Given the description of an element on the screen output the (x, y) to click on. 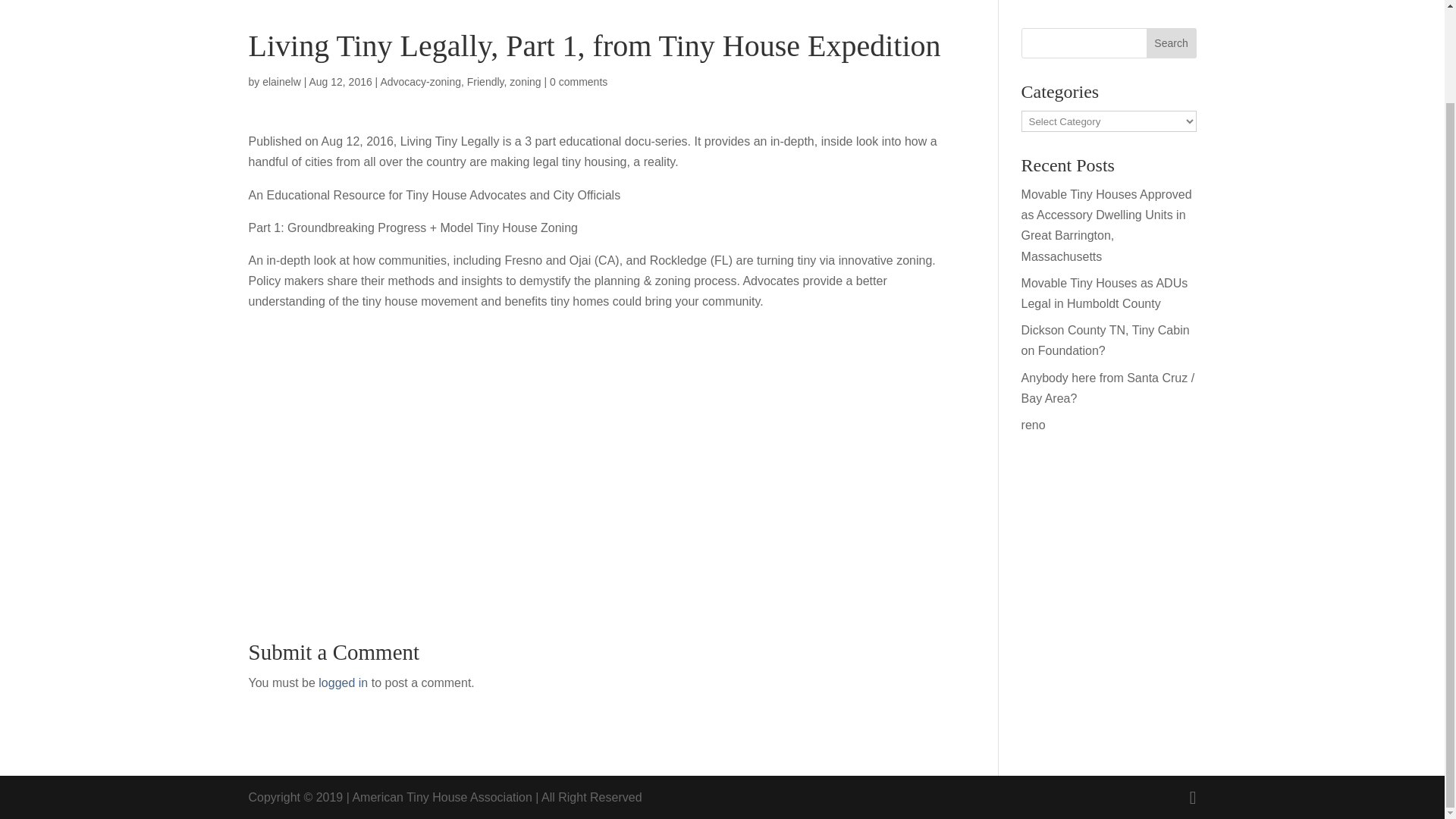
Dickson County TN, Tiny Cabin on Foundation? (1105, 340)
Advocacy-zoning (420, 81)
Posts by elainelw (281, 81)
logged in (343, 682)
reno (1033, 424)
Search (1171, 42)
0 comments (578, 81)
Search (1171, 42)
Movable Tiny Houses as ADUs Legal in Humboldt County (1105, 293)
